Given the description of an element on the screen output the (x, y) to click on. 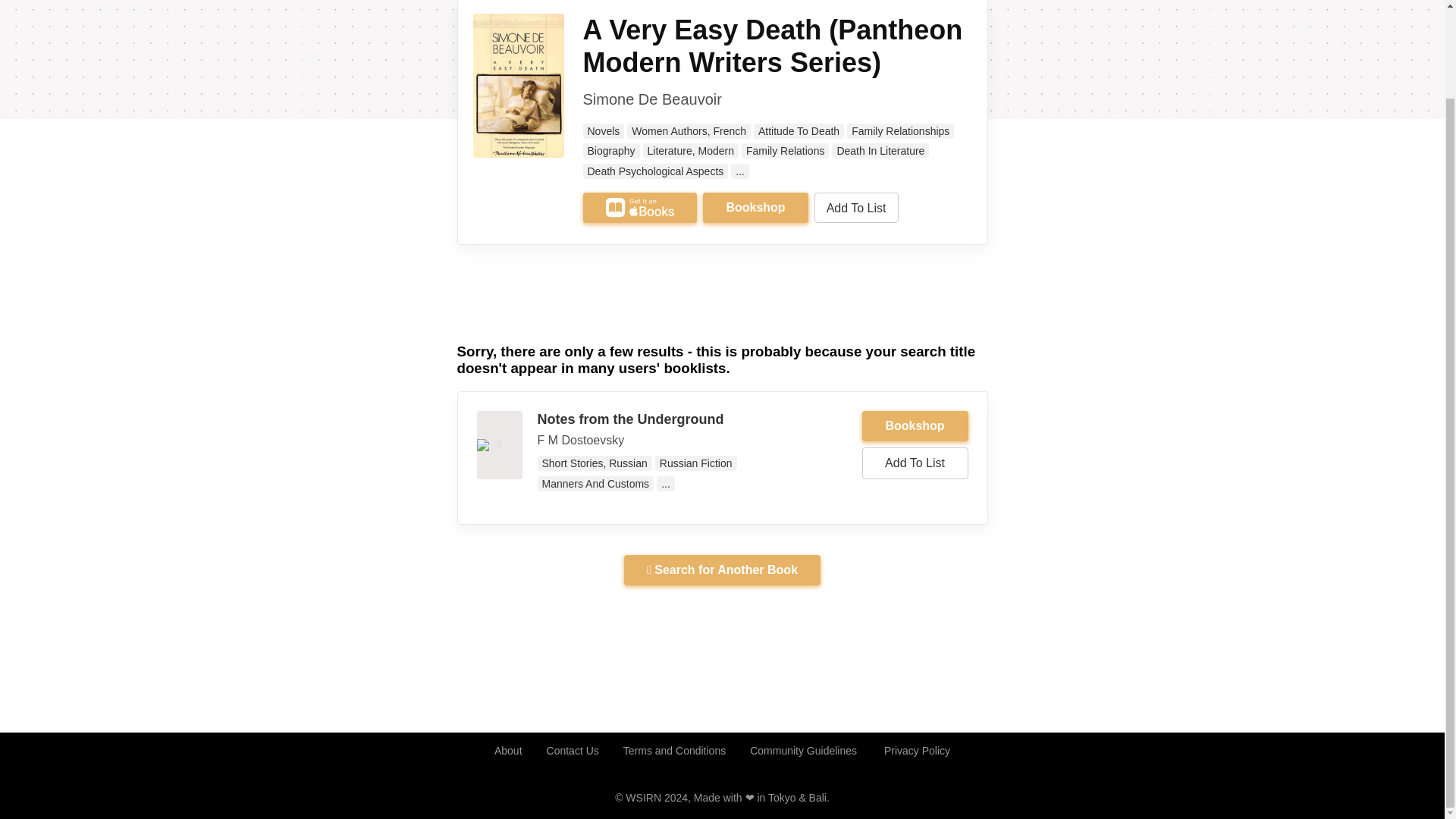
Add To List (914, 463)
... (739, 171)
Add To List (855, 207)
Death In Literature (879, 150)
F M Dostoevsky (580, 440)
Short Stories, Russian (593, 462)
Death Psychological Aspects (655, 171)
Novels (603, 130)
Women Authors, French (689, 130)
About (507, 750)
